Given the description of an element on the screen output the (x, y) to click on. 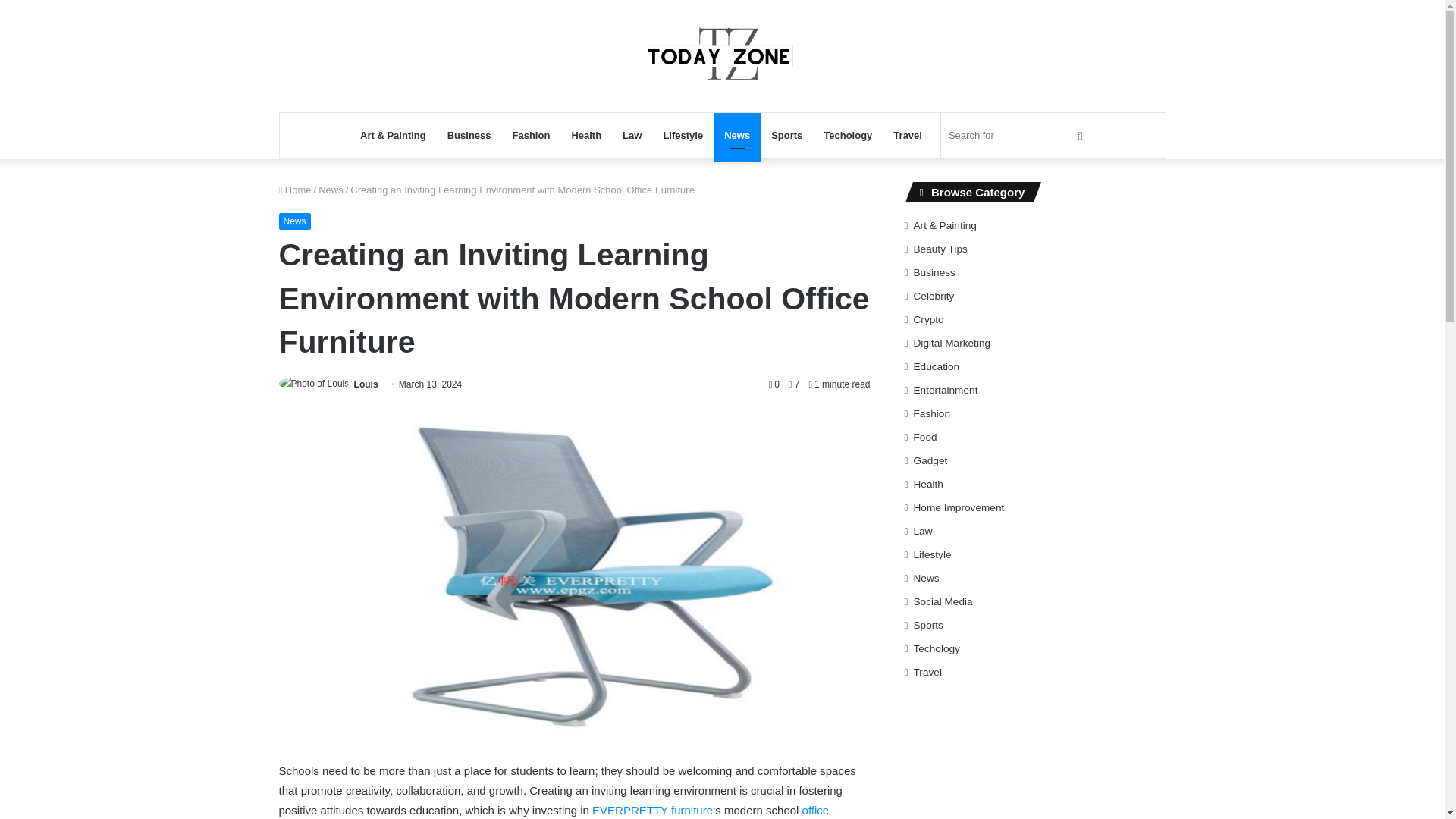
Todayzone (721, 56)
Techology (847, 135)
News (295, 221)
Travel (907, 135)
Home (295, 189)
Louis (365, 384)
Health (585, 135)
Search for (1017, 135)
office furniture (554, 811)
News (736, 135)
